Given the description of an element on the screen output the (x, y) to click on. 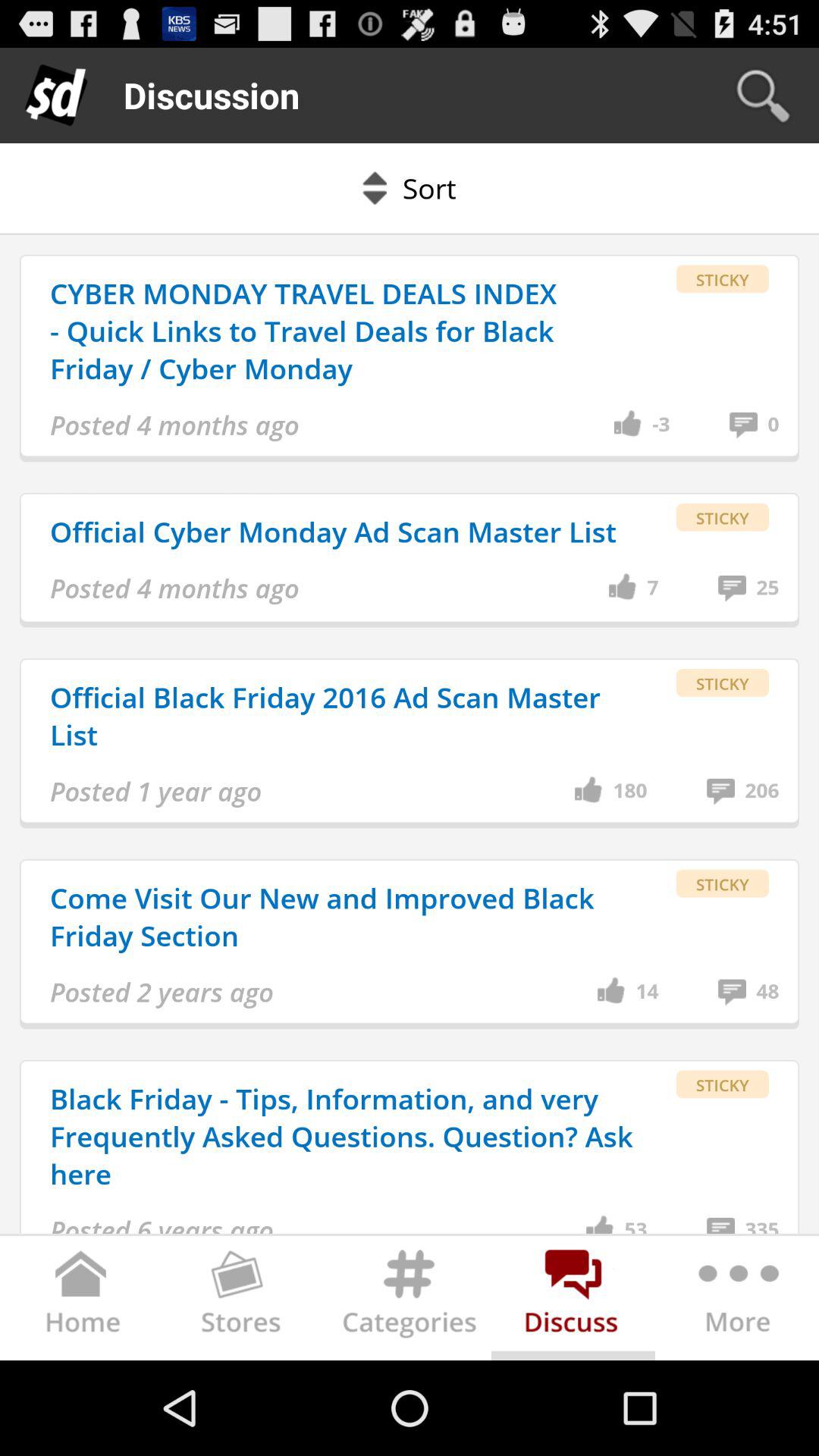
go to home page (81, 1301)
